Given the description of an element on the screen output the (x, y) to click on. 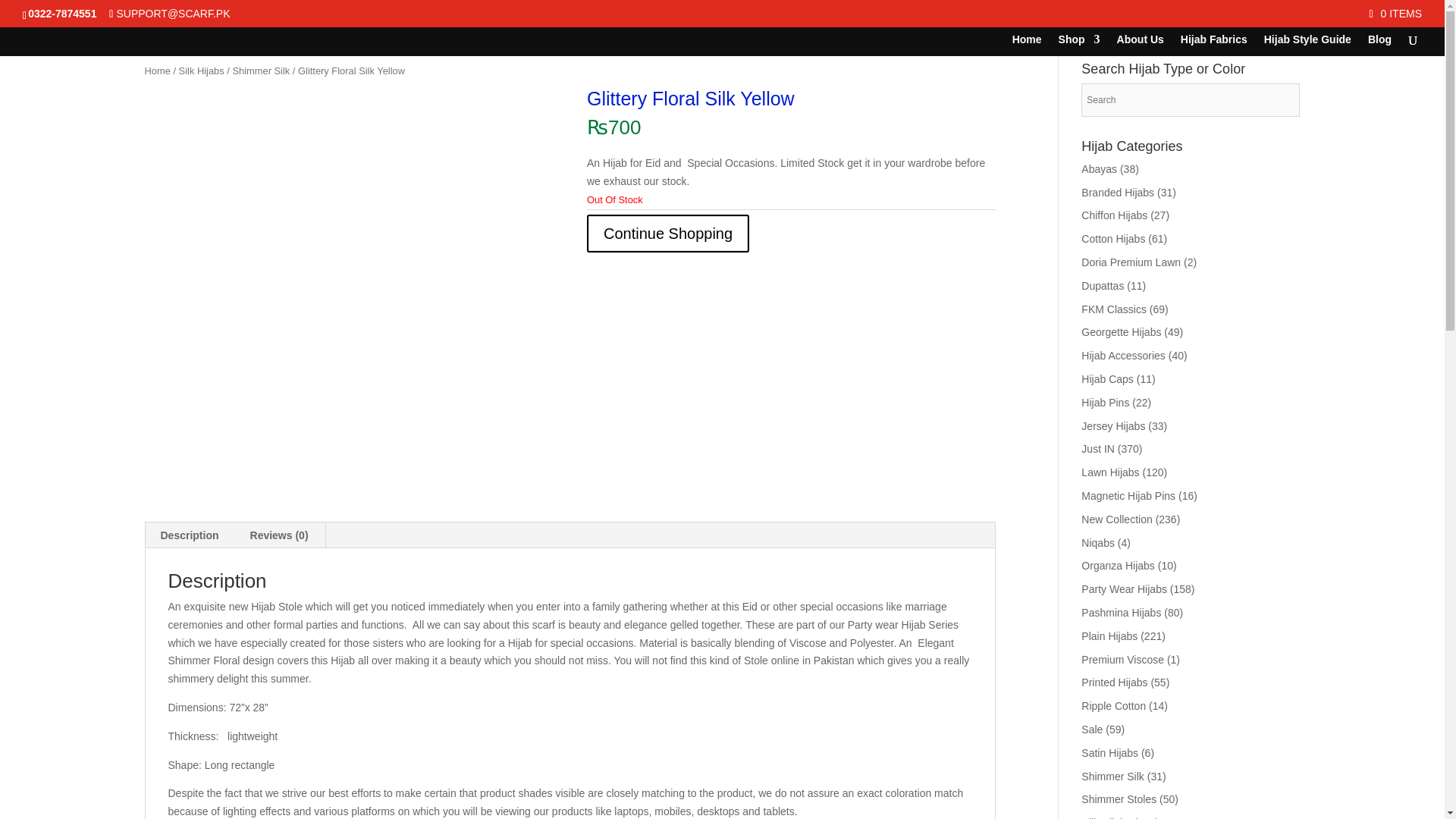
Description (189, 534)
0 ITEMS (1395, 13)
Shop (1079, 45)
Hijab Style Guide (1307, 45)
Blog (1379, 45)
Silk Hijabs (201, 70)
Abayas (1098, 168)
Home (1026, 45)
Home (157, 70)
About Us (1139, 45)
Branded Hijabs (1117, 192)
Hijab Fabrics (1213, 45)
Chiffon Hijabs (1114, 215)
Cotton Hijabs (1112, 238)
Shimmer Silk (260, 70)
